Given the description of an element on the screen output the (x, y) to click on. 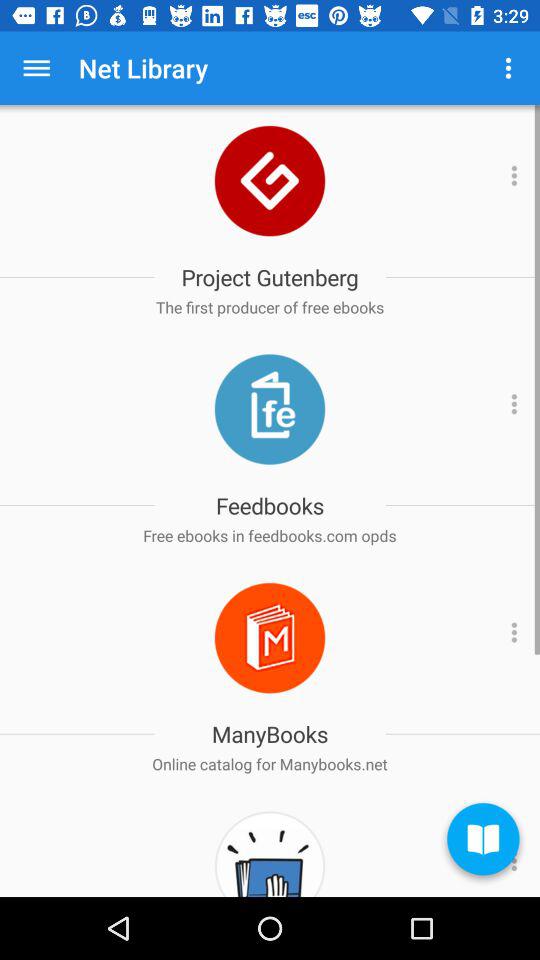
flip to the project gutenberg icon (269, 277)
